Given the description of an element on the screen output the (x, y) to click on. 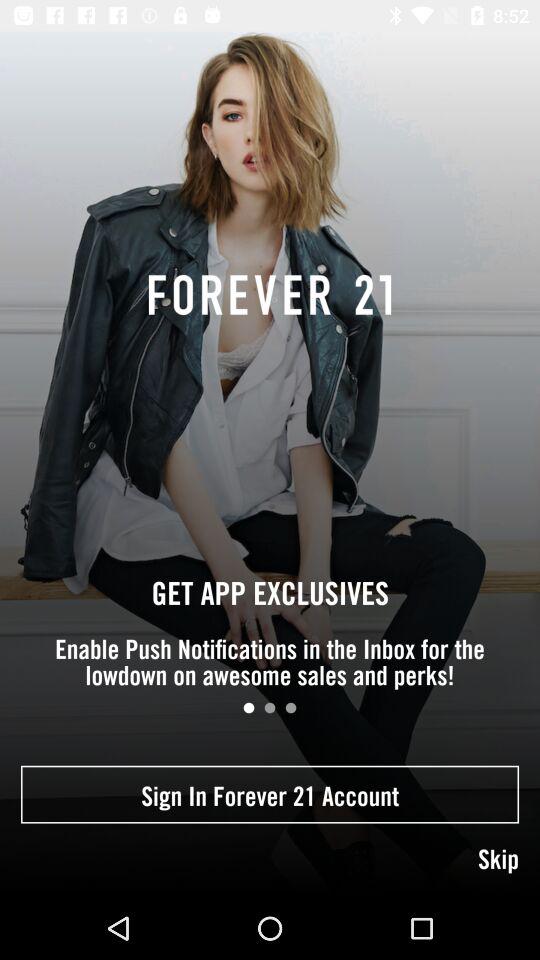
select the skip icon (270, 860)
